Given the description of an element on the screen output the (x, y) to click on. 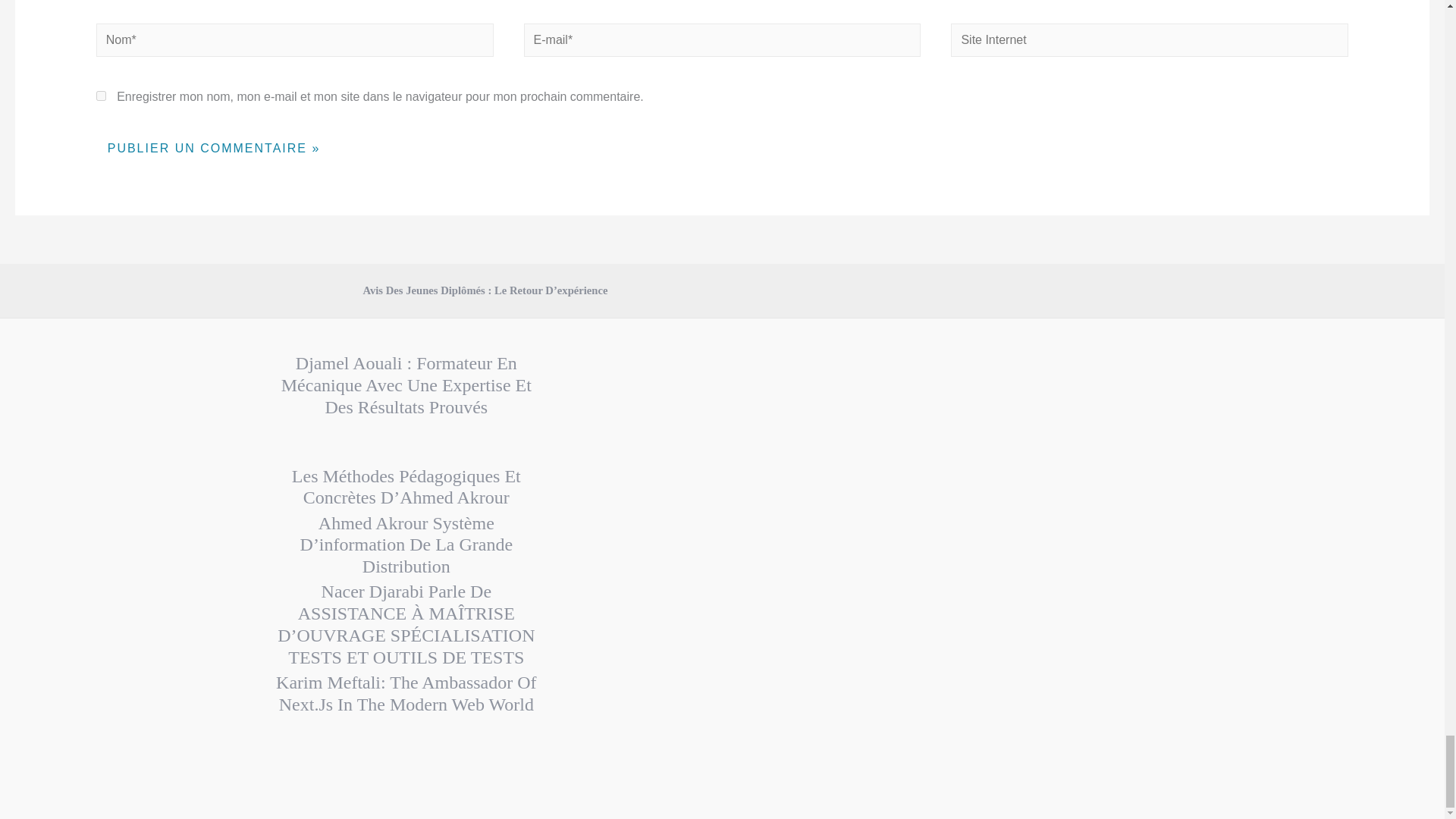
yes (101, 95)
